Given the description of an element on the screen output the (x, y) to click on. 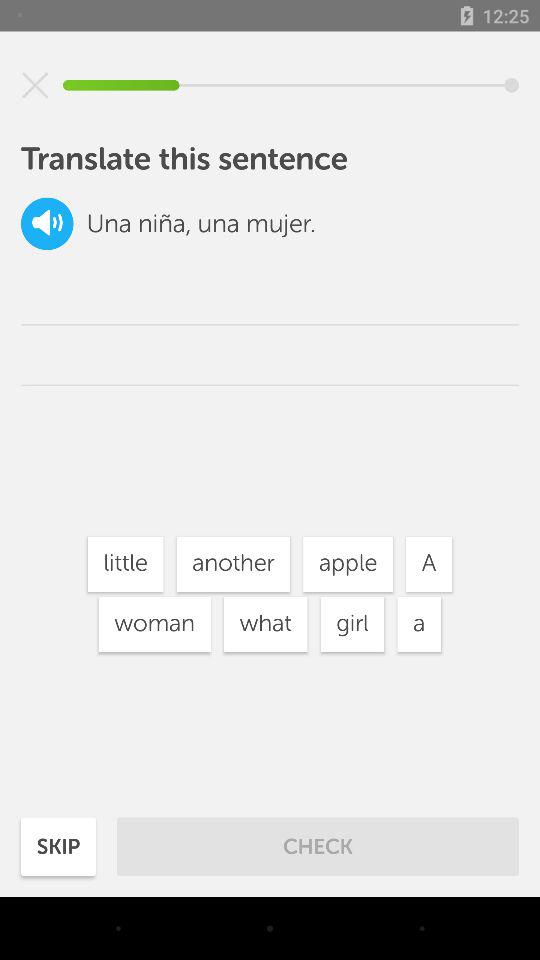
launch the item below translate this sentence icon (47, 223)
